Given the description of an element on the screen output the (x, y) to click on. 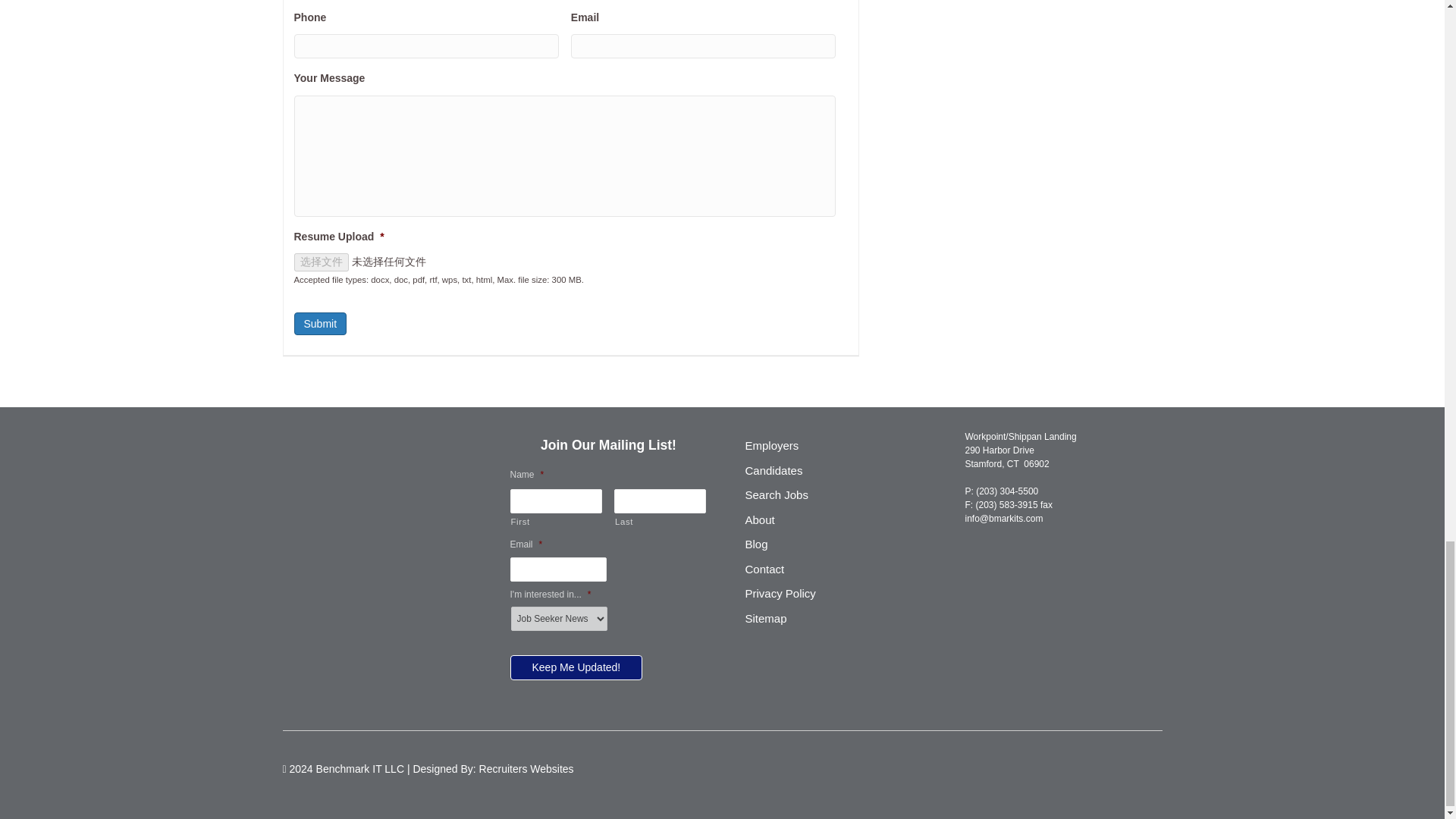
Keep Me Updated! (575, 667)
Submit (320, 323)
LinkedIn-50x50-green-1 (327, 492)
Facebook-50x50-green-1 (289, 492)
BIT-logo-white-1000x243-06112020 (348, 453)
Instagram-50x50-green-1 (347, 492)
sm-greatrecruiter-white-greenbg-rounded (365, 492)
Twitter-50x50-green-1 (309, 492)
